Given the description of an element on the screen output the (x, y) to click on. 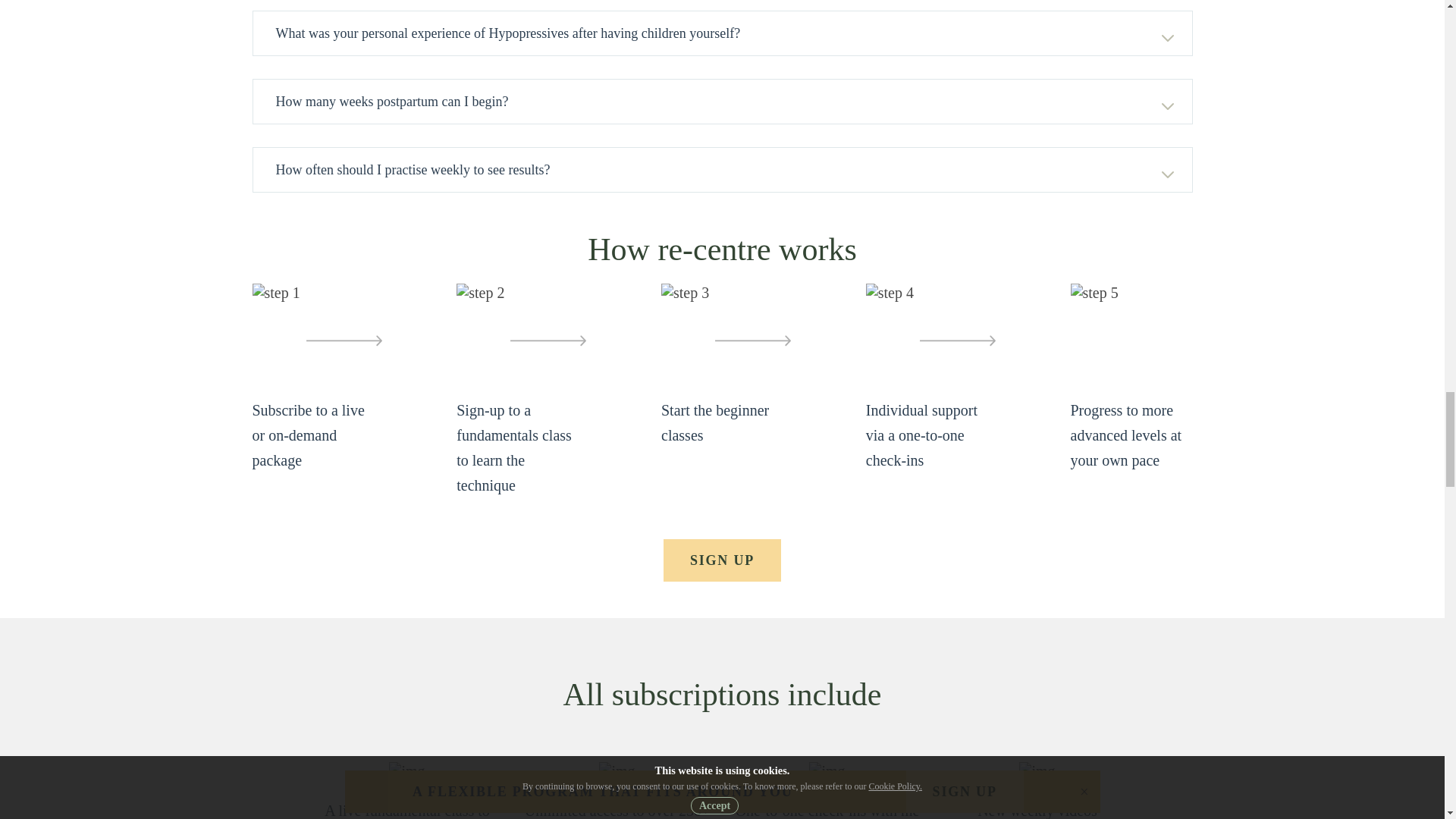
SIGN UP (721, 559)
